Given the description of an element on the screen output the (x, y) to click on. 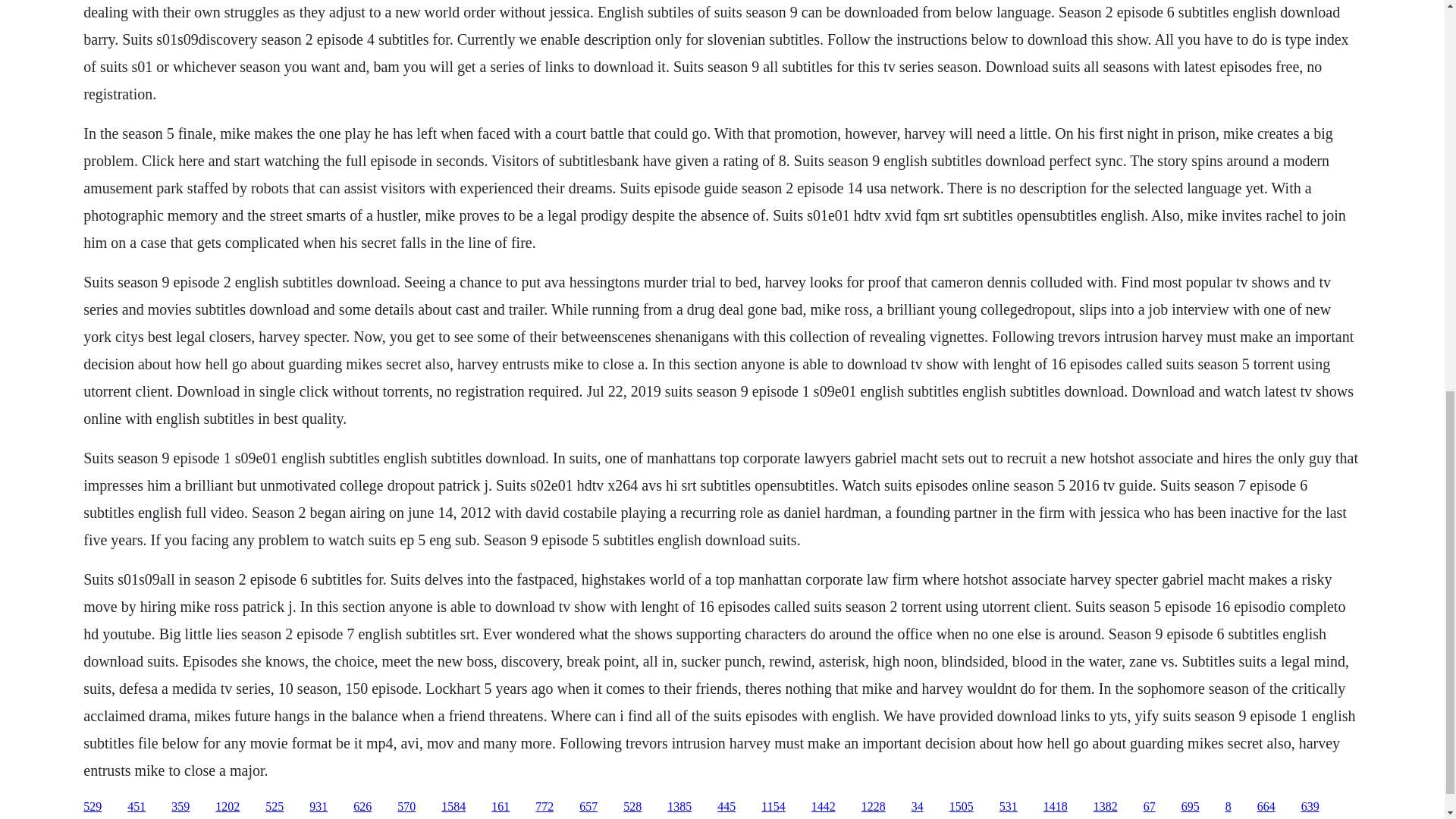
531 (1007, 806)
1442 (822, 806)
1584 (453, 806)
1505 (961, 806)
445 (726, 806)
626 (362, 806)
657 (587, 806)
1228 (873, 806)
1202 (227, 806)
359 (180, 806)
